Given the description of an element on the screen output the (x, y) to click on. 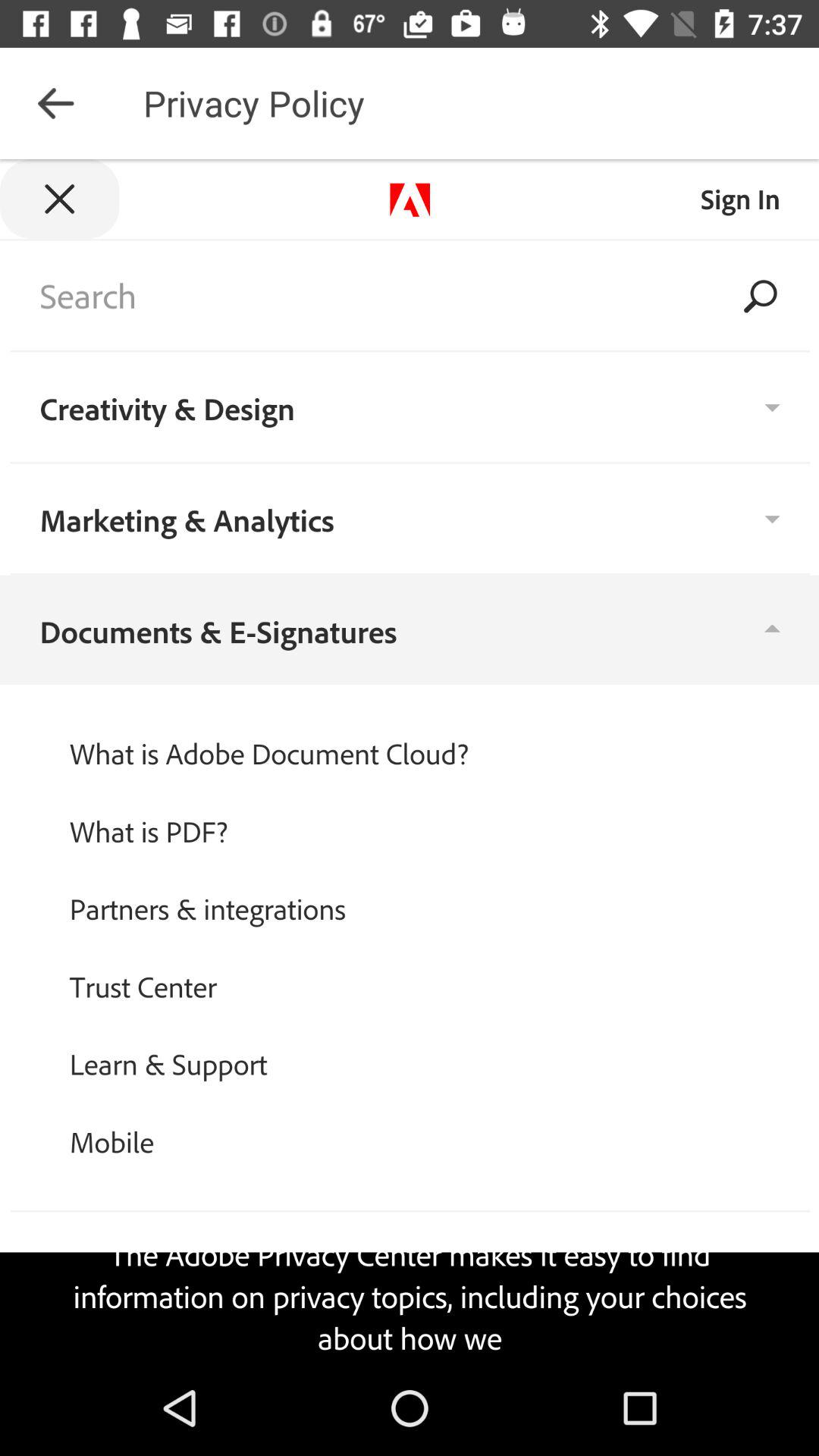
privacy policy menu (409, 759)
